Given the description of an element on the screen output the (x, y) to click on. 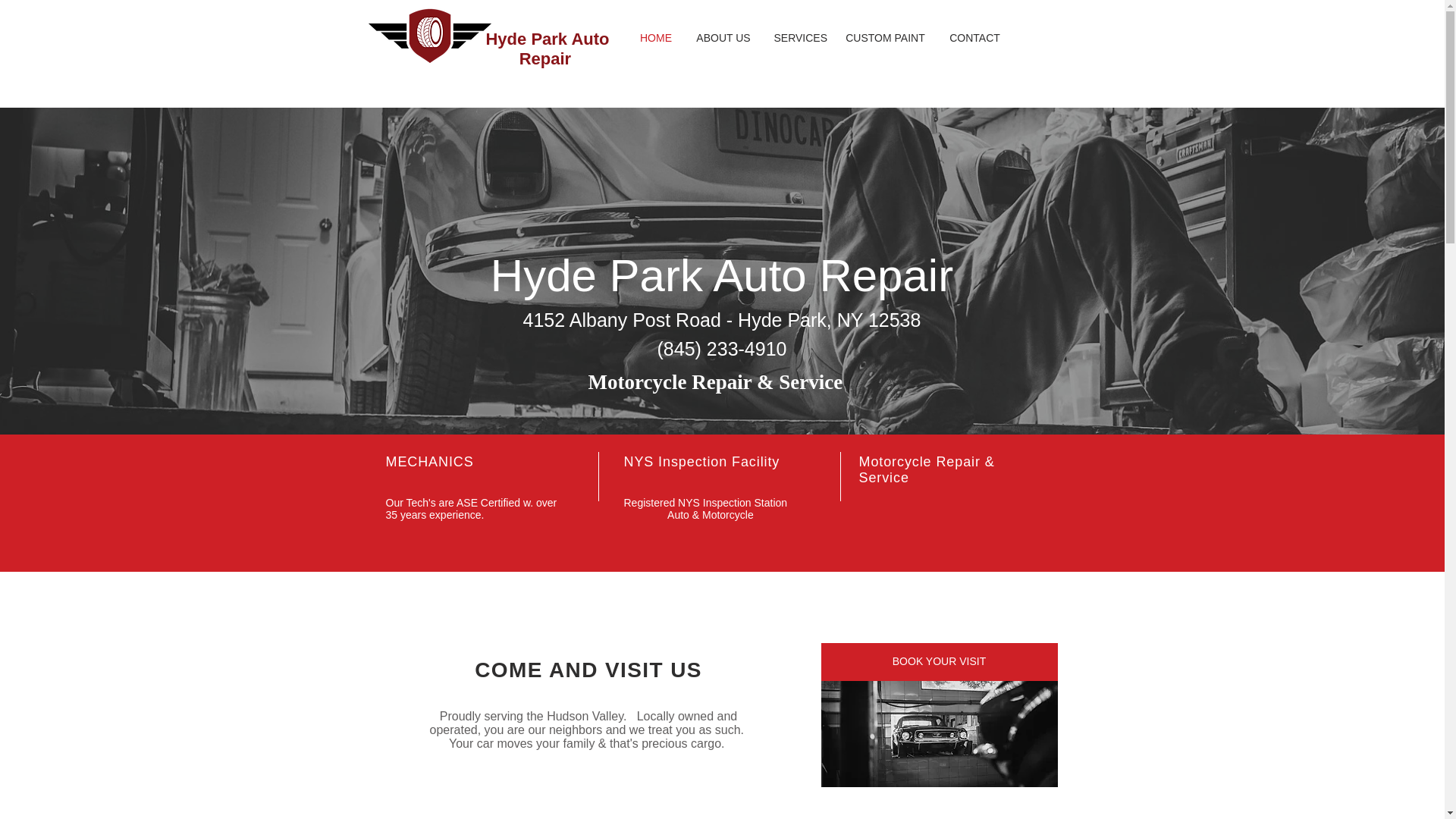
BOOK YOUR VISIT (939, 661)
CONTACT (975, 37)
SERVICES (798, 37)
CUSTOM PAINT (885, 37)
HOME (655, 37)
ABOUT US (722, 37)
Hyde Park Auto Repair  (546, 48)
